Given the description of an element on the screen output the (x, y) to click on. 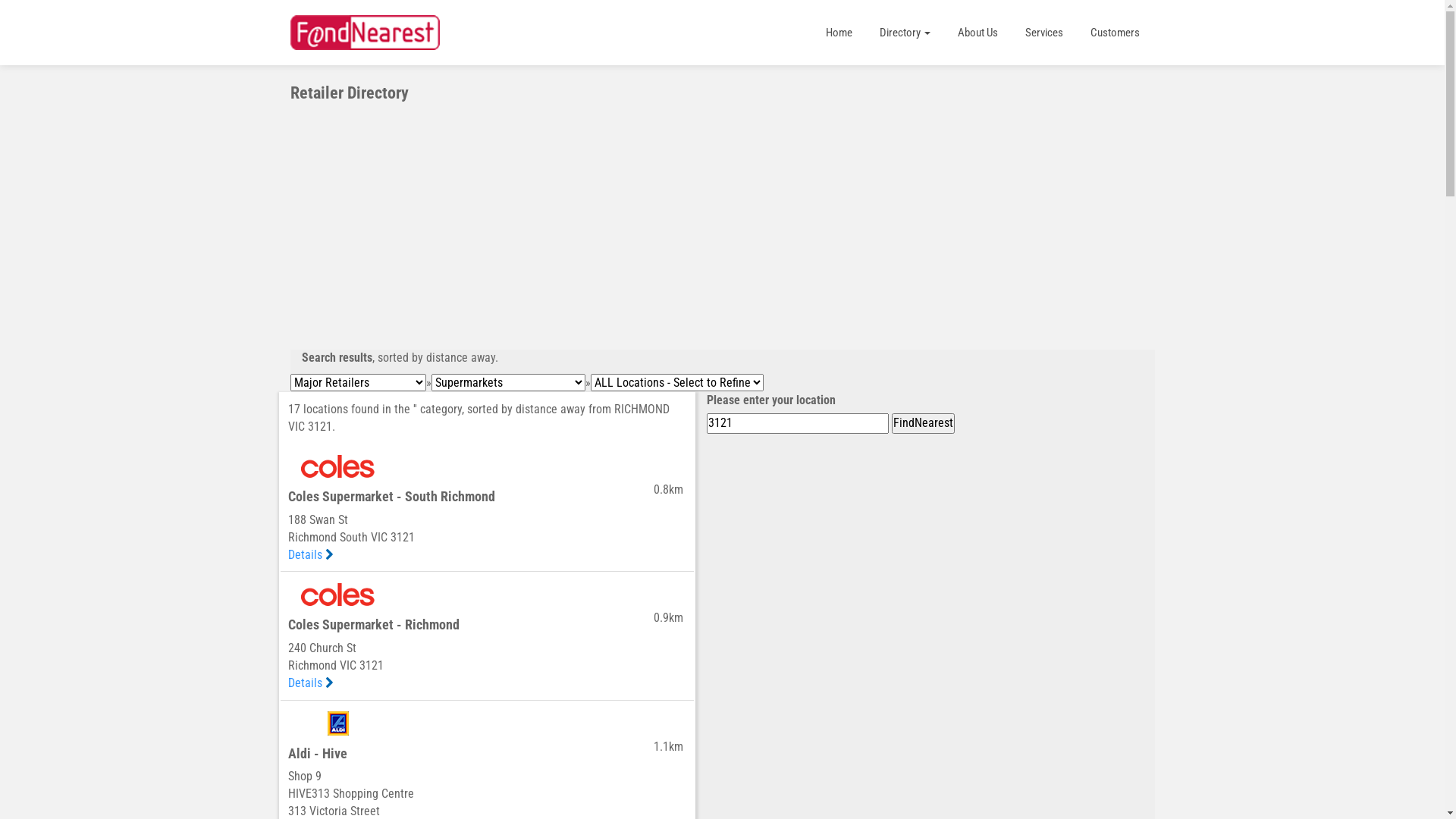
Home Element type: text (837, 32)
Services Element type: text (1044, 32)
Details  Element type: text (310, 682)
About Us Element type: text (976, 32)
Directory Element type: text (904, 32)
Customers Element type: text (1114, 32)
Advertisement Element type: hover (721, 215)
FindNearest Element type: text (922, 423)
Details  Element type: text (310, 554)
